Given the description of an element on the screen output the (x, y) to click on. 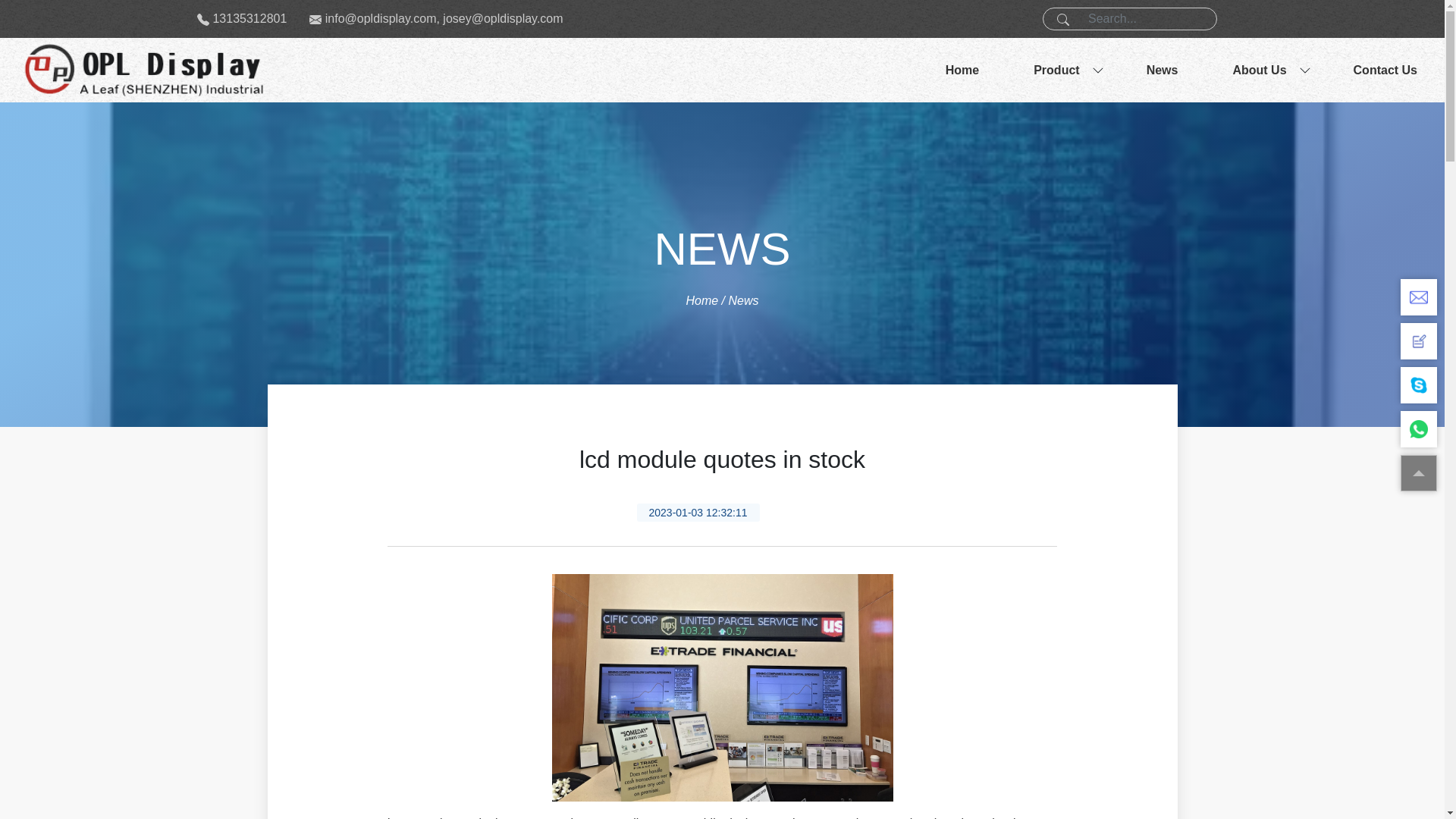
Contact Us (1384, 69)
Product (1056, 69)
About Us (1259, 69)
Home (701, 300)
Home (962, 69)
News (1162, 69)
